Given the description of an element on the screen output the (x, y) to click on. 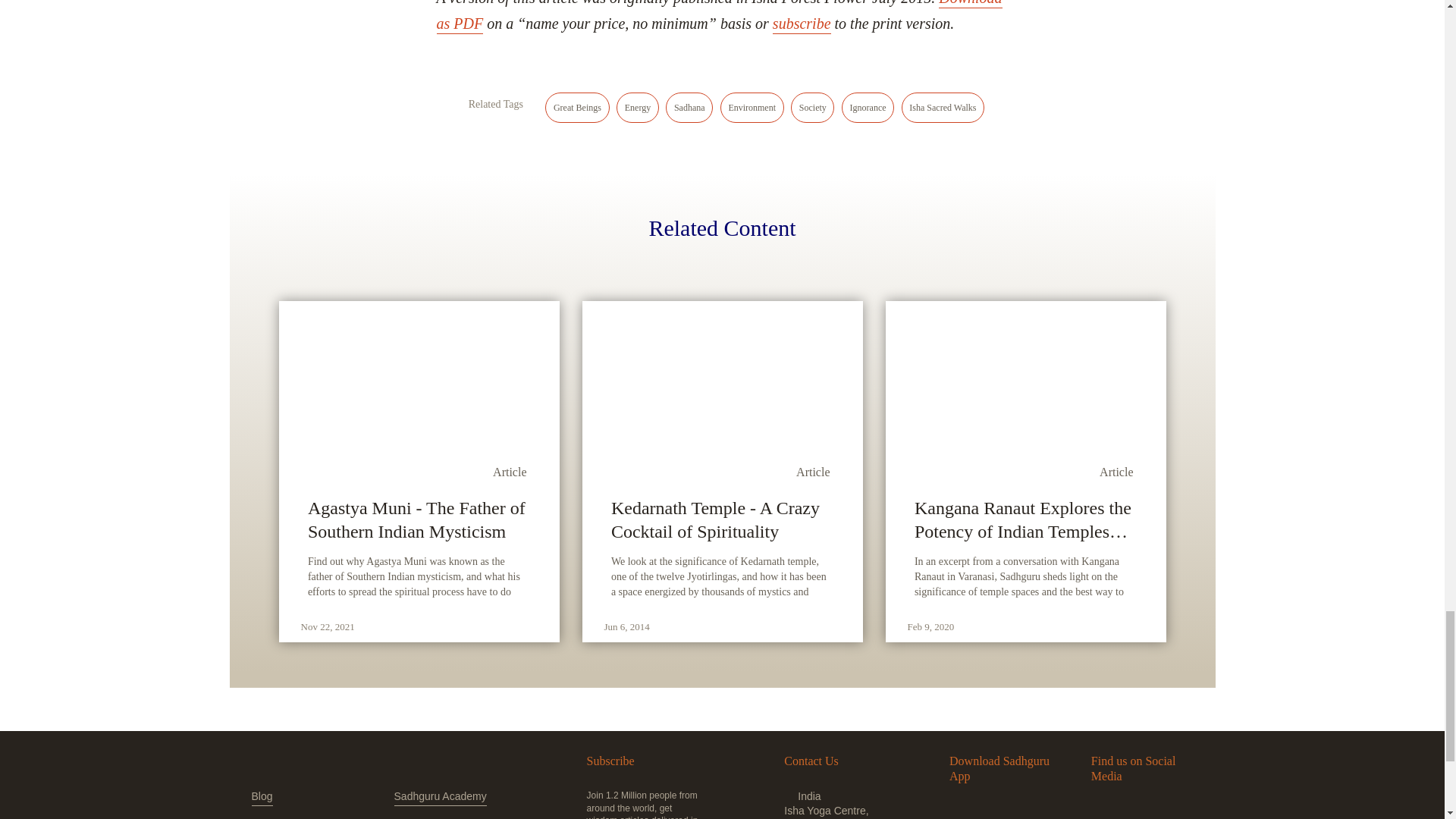
Agastya Muni - The Father of Southern Indian Mysticism (418, 519)
Kedarnath Temple - A Crazy Cocktail of Spirituality (721, 519)
